Given the description of an element on the screen output the (x, y) to click on. 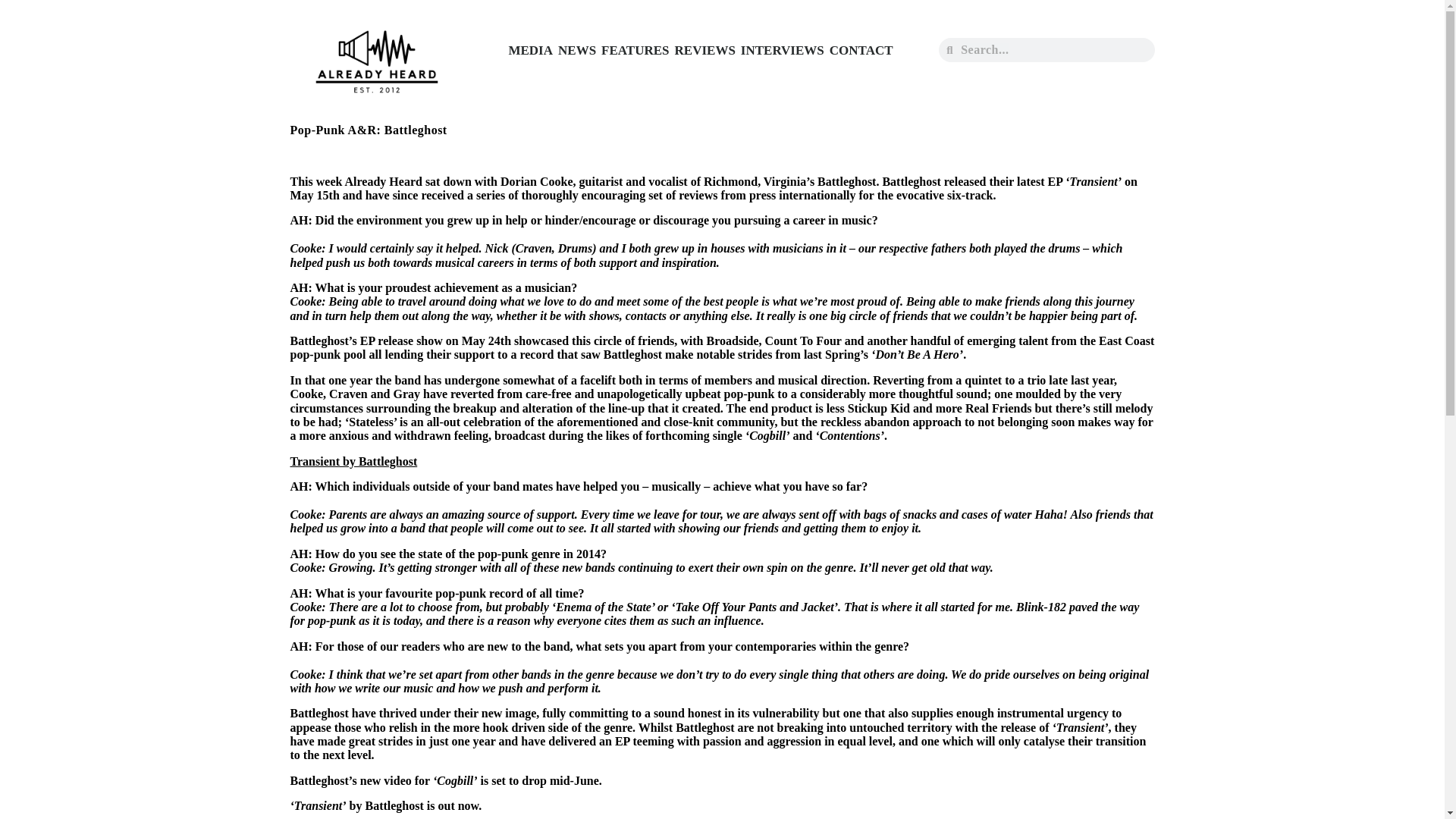
NEWS (577, 50)
FEATURES (634, 50)
MEDIA (529, 50)
